Given the description of an element on the screen output the (x, y) to click on. 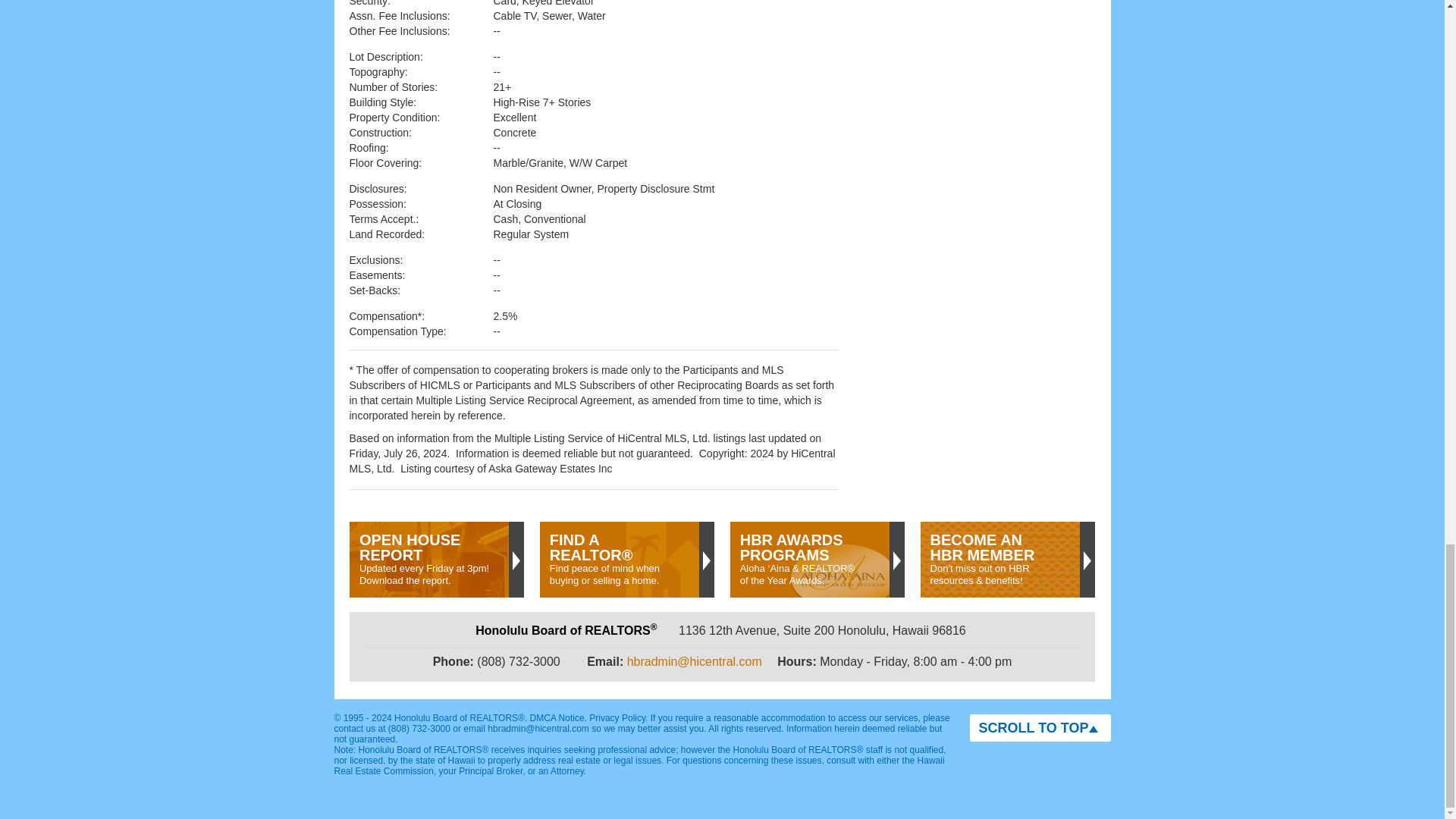
HBR DMCA Notice (557, 717)
SCROLL TO TOP (1039, 728)
